Given the description of an element on the screen output the (x, y) to click on. 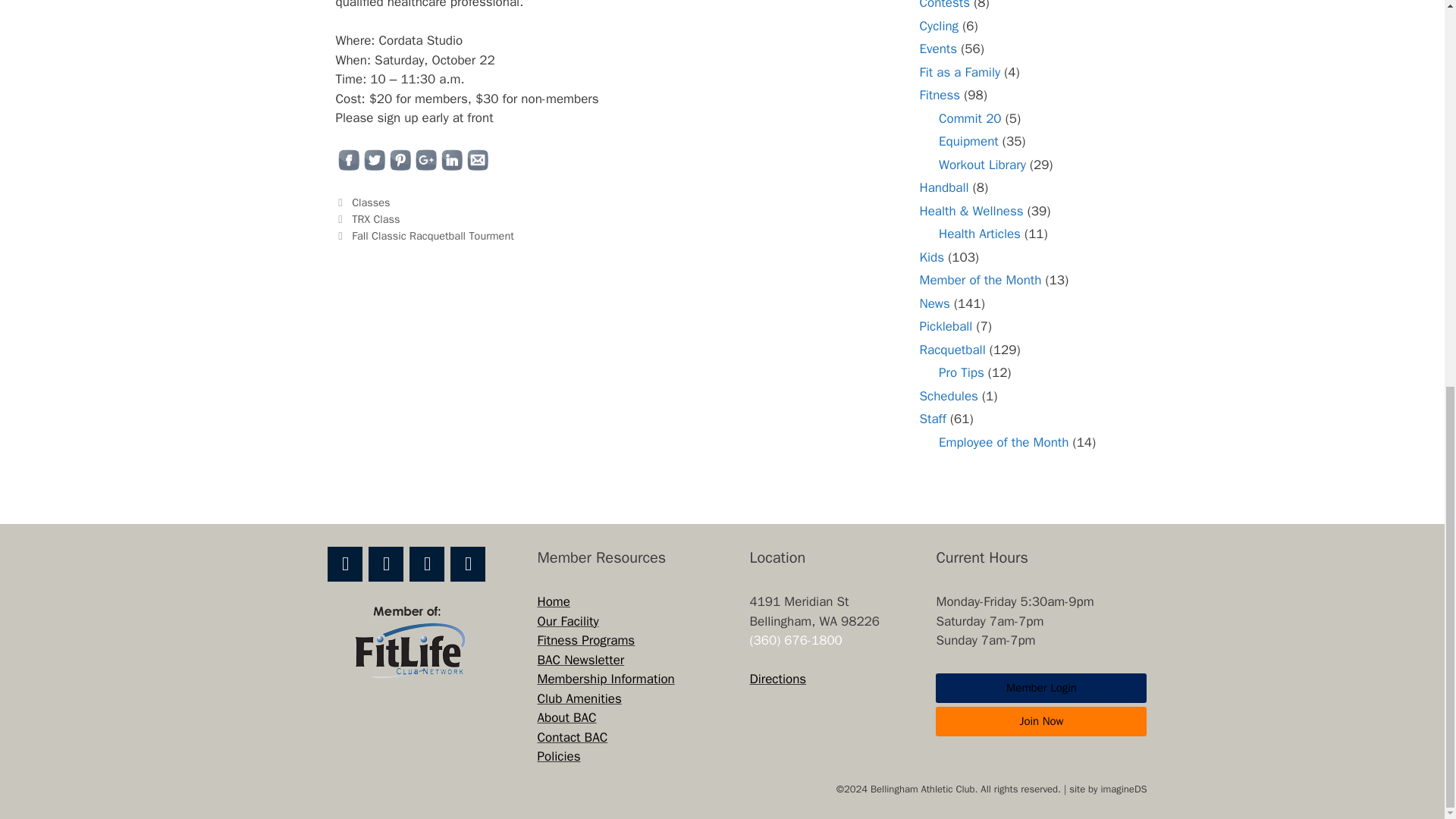
email (476, 159)
twitter (374, 159)
facebook (347, 159)
Facebook (344, 564)
google (425, 159)
pinterest (399, 159)
linkedin (451, 159)
